Given the description of an element on the screen output the (x, y) to click on. 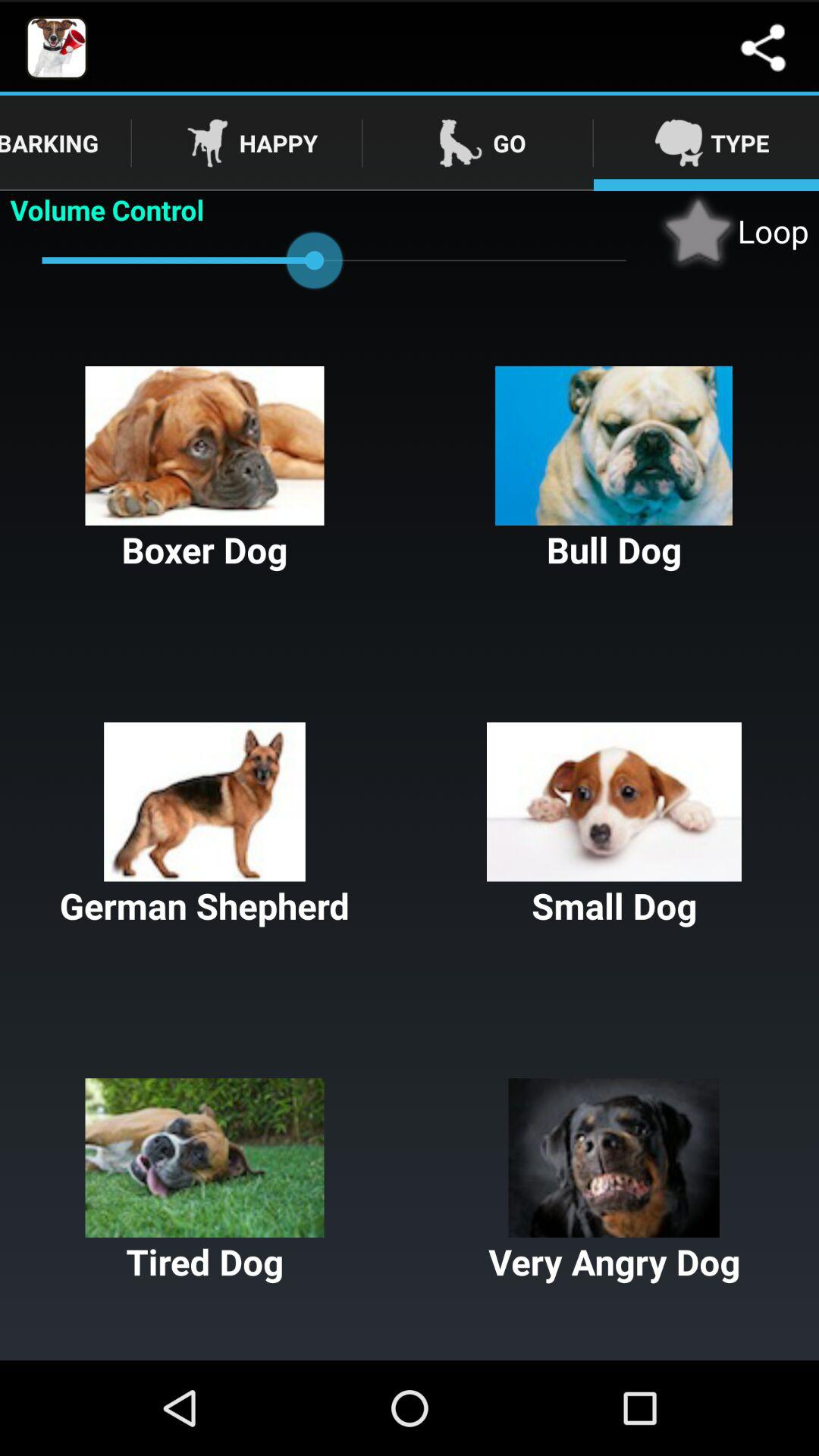
select the image having the text bull dog (614, 469)
move to go tab which beside the happy tab (477, 143)
select the icon which is left to the text happy (207, 143)
select the image which is is at top left side of the page (55, 48)
small dog (614, 826)
